Given the description of an element on the screen output the (x, y) to click on. 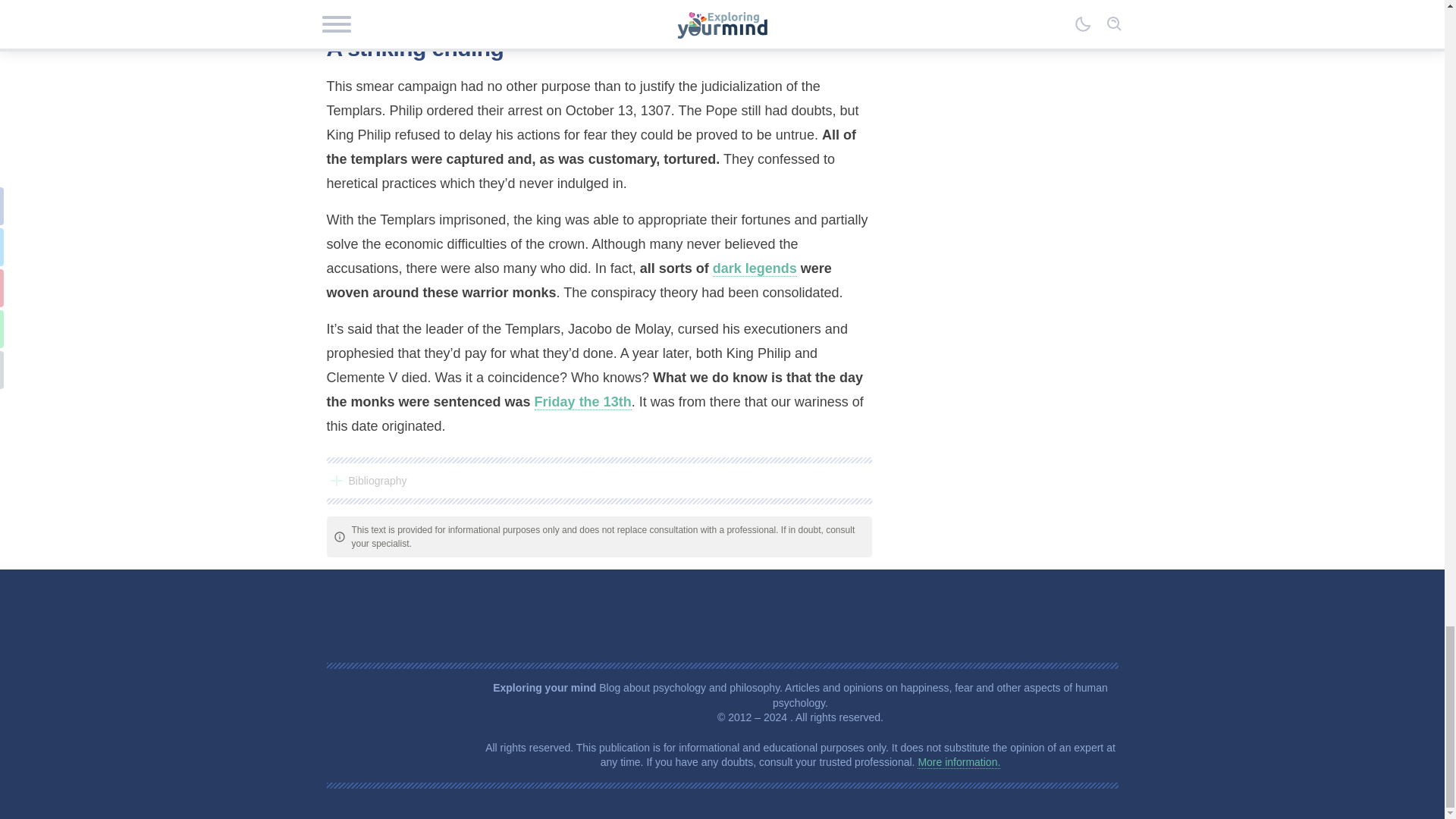
Bibliography (598, 480)
dark legends (754, 268)
Friday the 13th (582, 401)
More information. (958, 762)
